Given the description of an element on the screen output the (x, y) to click on. 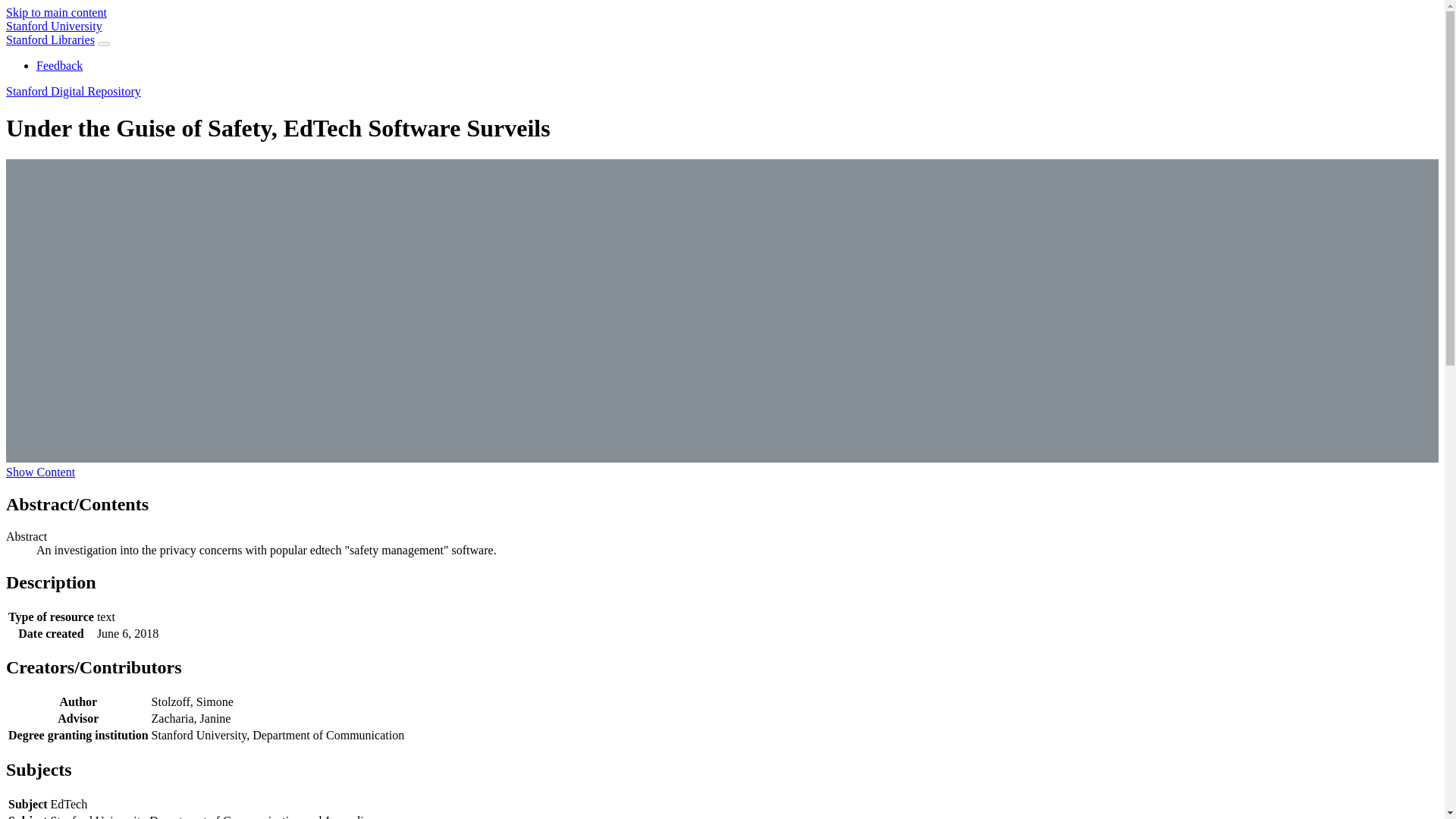
Feedback (59, 65)
Skip to main content (55, 11)
Show Content (40, 472)
Stanford Libraries (49, 39)
Stanford Digital Repository (73, 91)
Stanford University (53, 25)
